Given the description of an element on the screen output the (x, y) to click on. 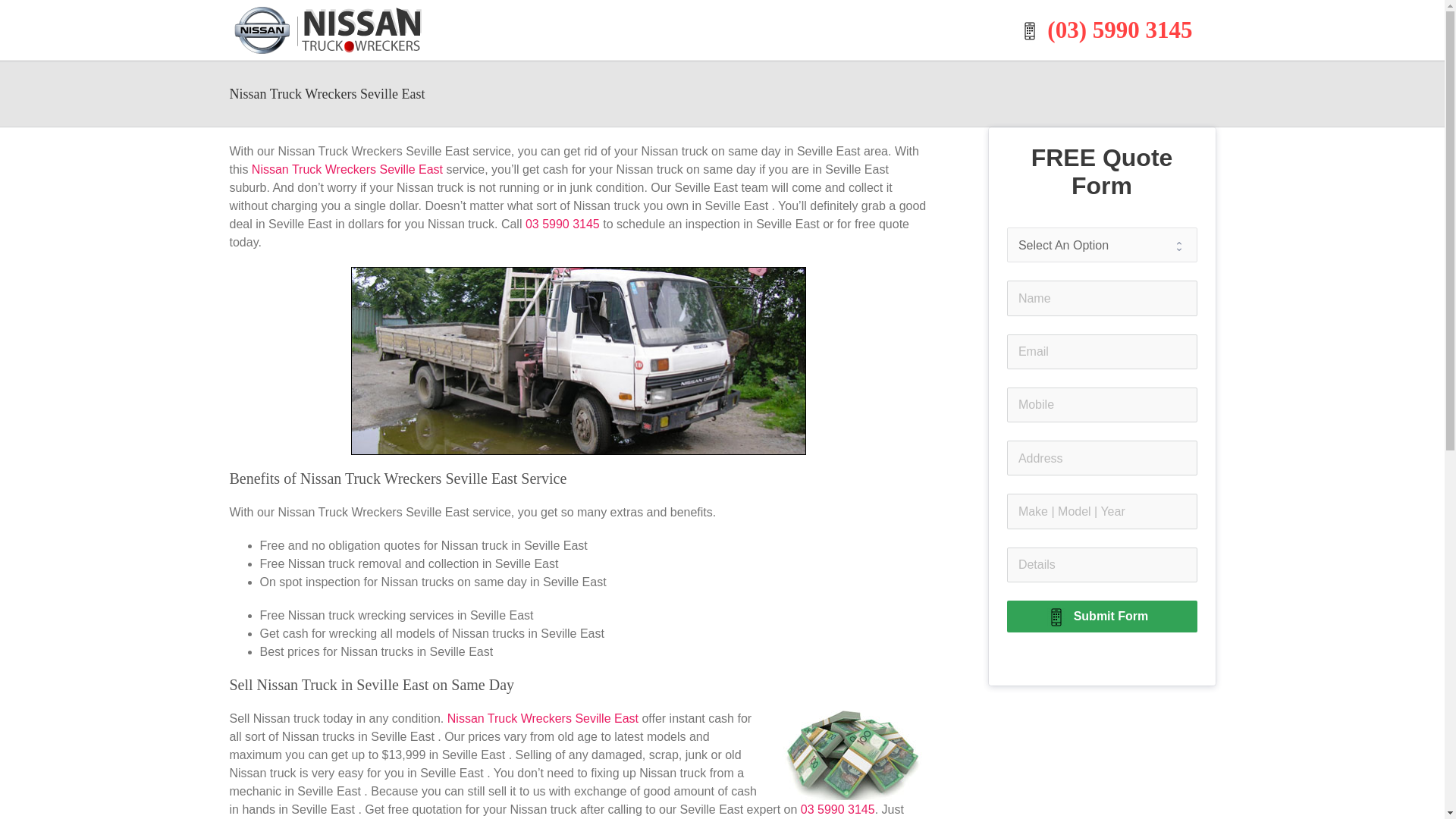
Nissan Truck Wreckers Seville East (348, 169)
Nissan Truck Wreckers Seville East (544, 717)
03 5990 3145 (562, 223)
Submit Form (1101, 616)
03 5990 3145 (837, 809)
